Given the description of an element on the screen output the (x, y) to click on. 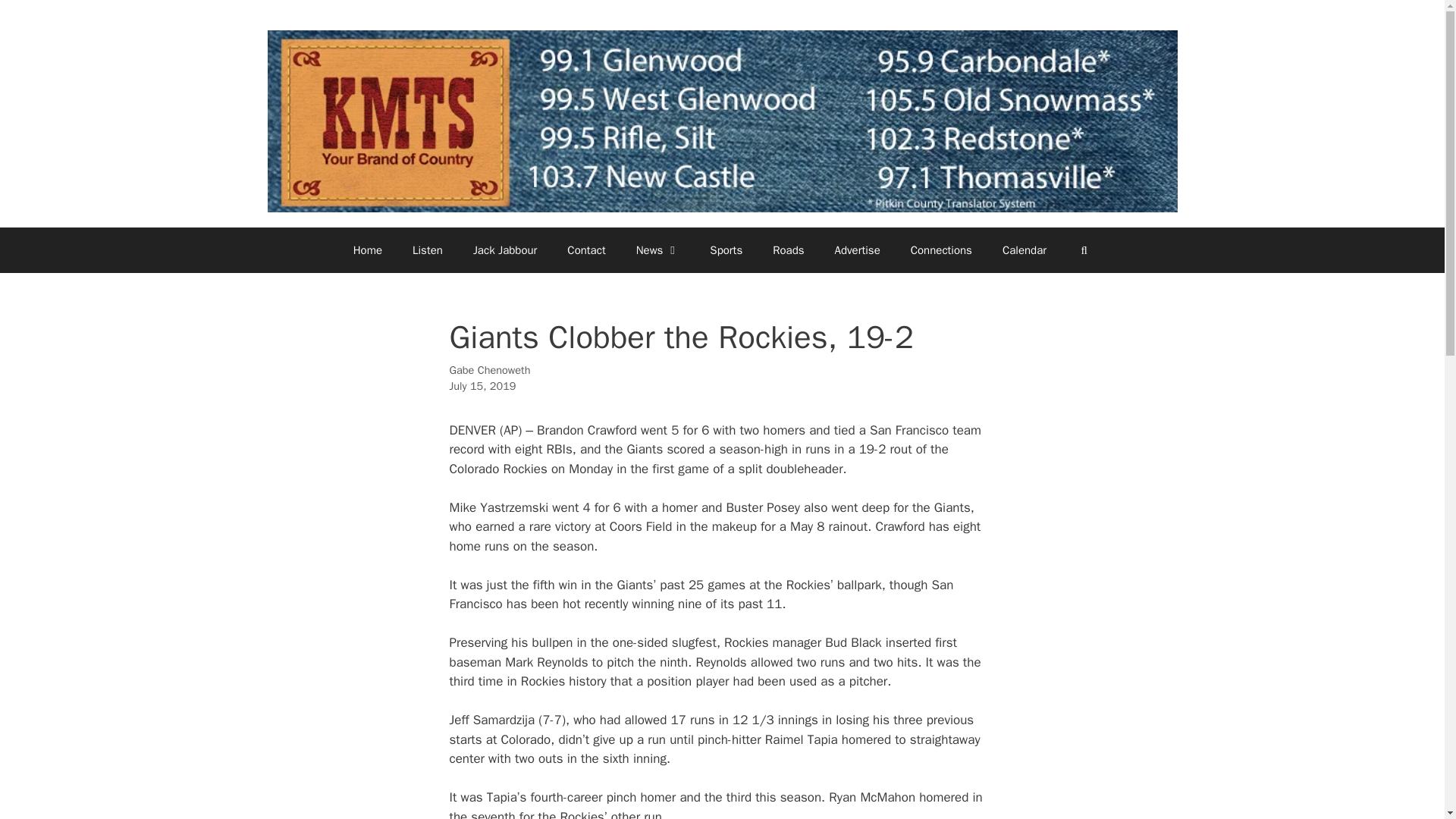
News (658, 249)
Roads (787, 249)
Home (367, 249)
Calendar (1024, 249)
Sports (725, 249)
Connections (941, 249)
Gabe Chenoweth (488, 369)
Jack Jabbour (504, 249)
Contact (585, 249)
Listen (427, 249)
Advertise (857, 249)
Posts by Gabe Chenoweth (488, 369)
